Given the description of an element on the screen output the (x, y) to click on. 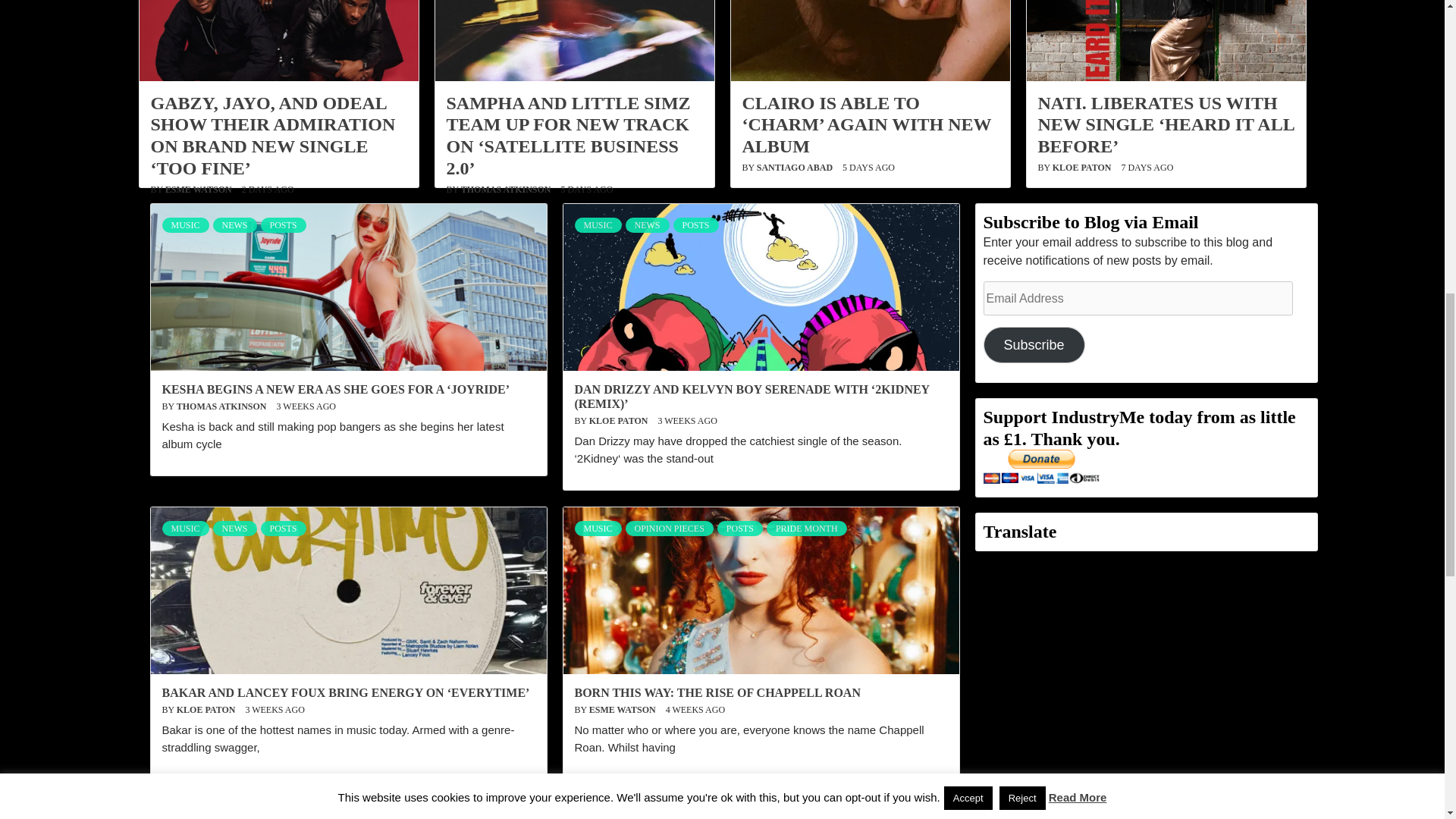
PayPal - The safer, easier way to pay online! (1040, 466)
Scroll back to top (469, 27)
